Given the description of an element on the screen output the (x, y) to click on. 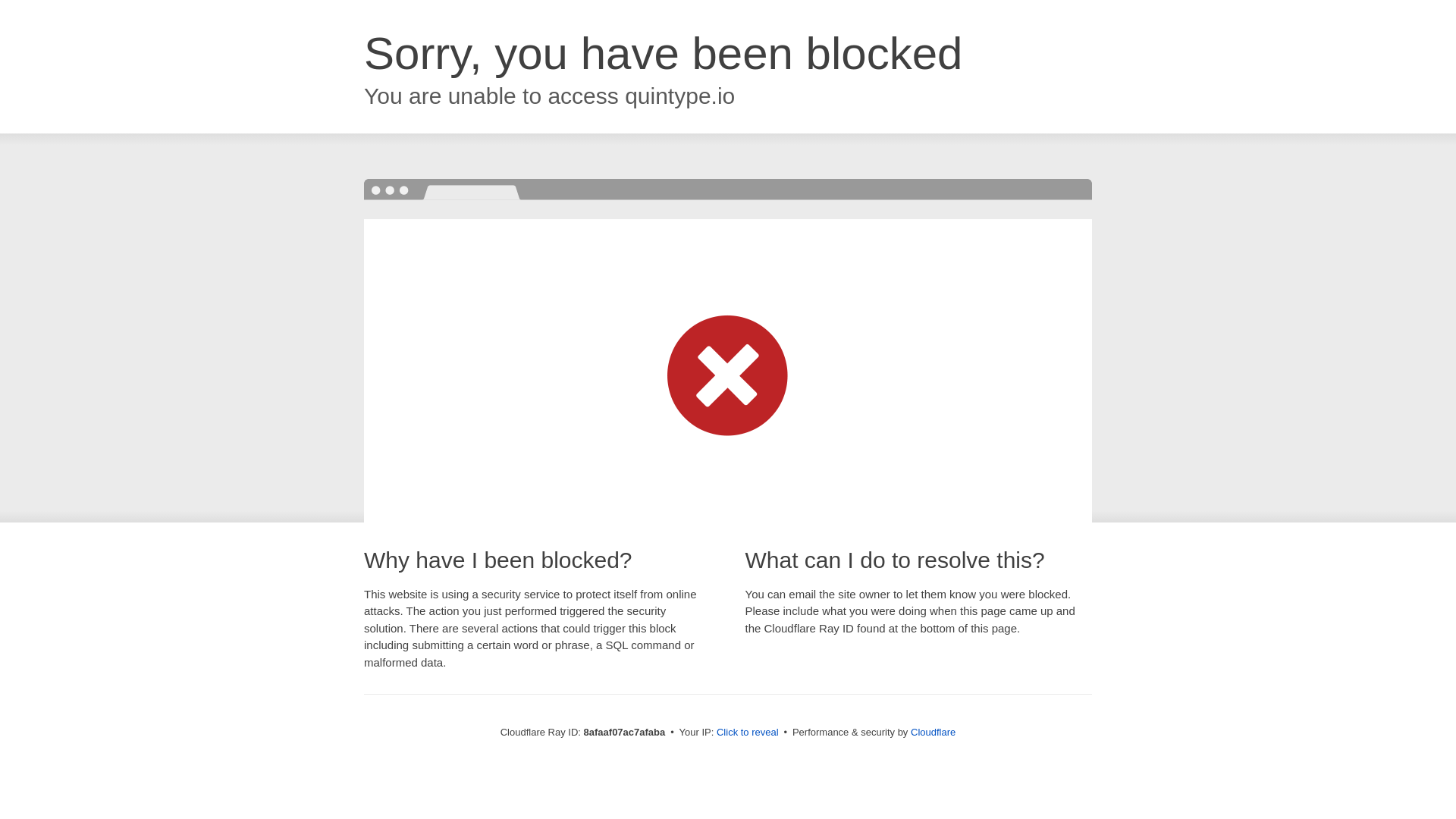
Cloudflare (933, 731)
Click to reveal (747, 732)
